Given the description of an element on the screen output the (x, y) to click on. 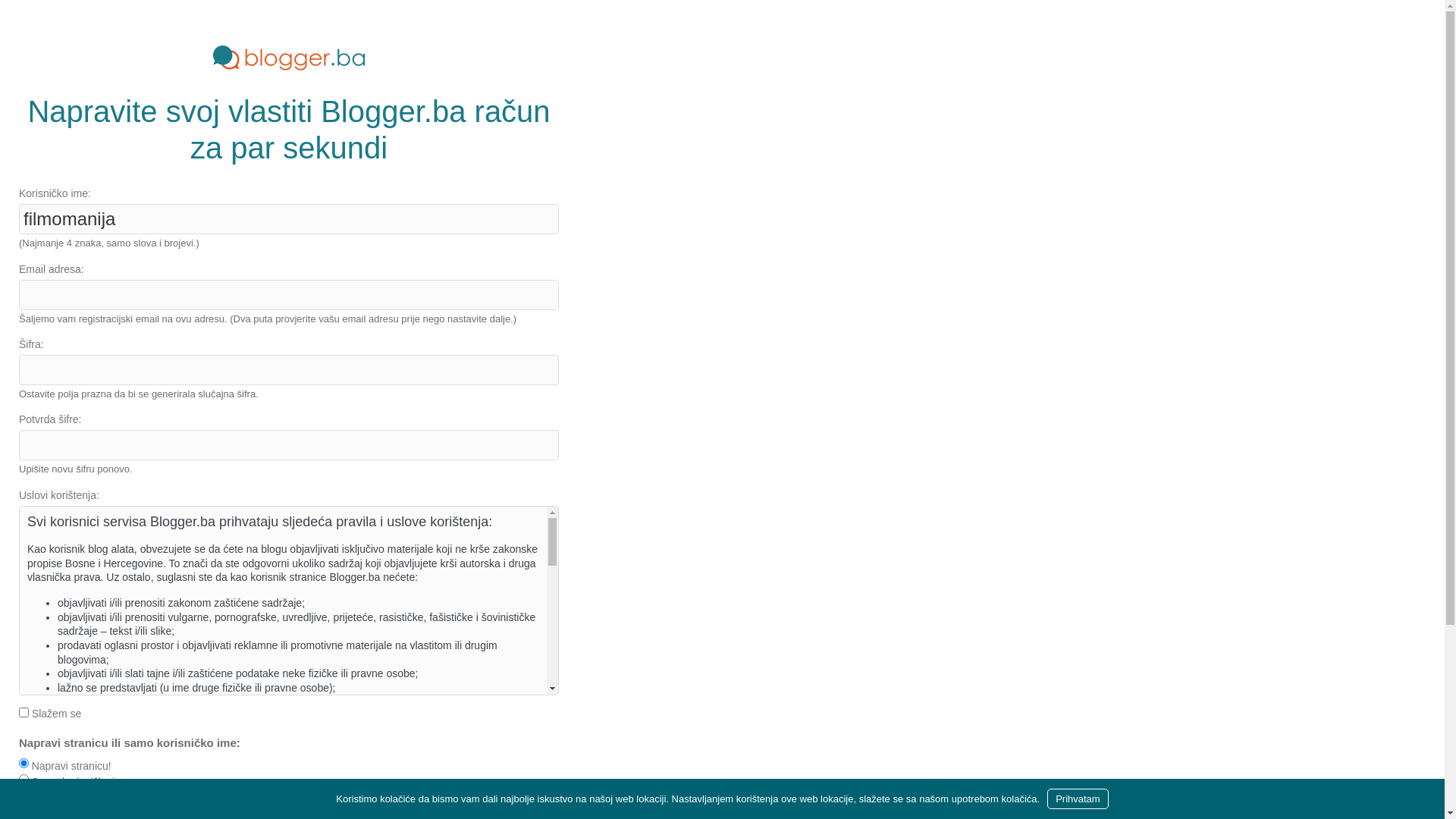
Prihvatam Element type: text (1077, 798)
